Given the description of an element on the screen output the (x, y) to click on. 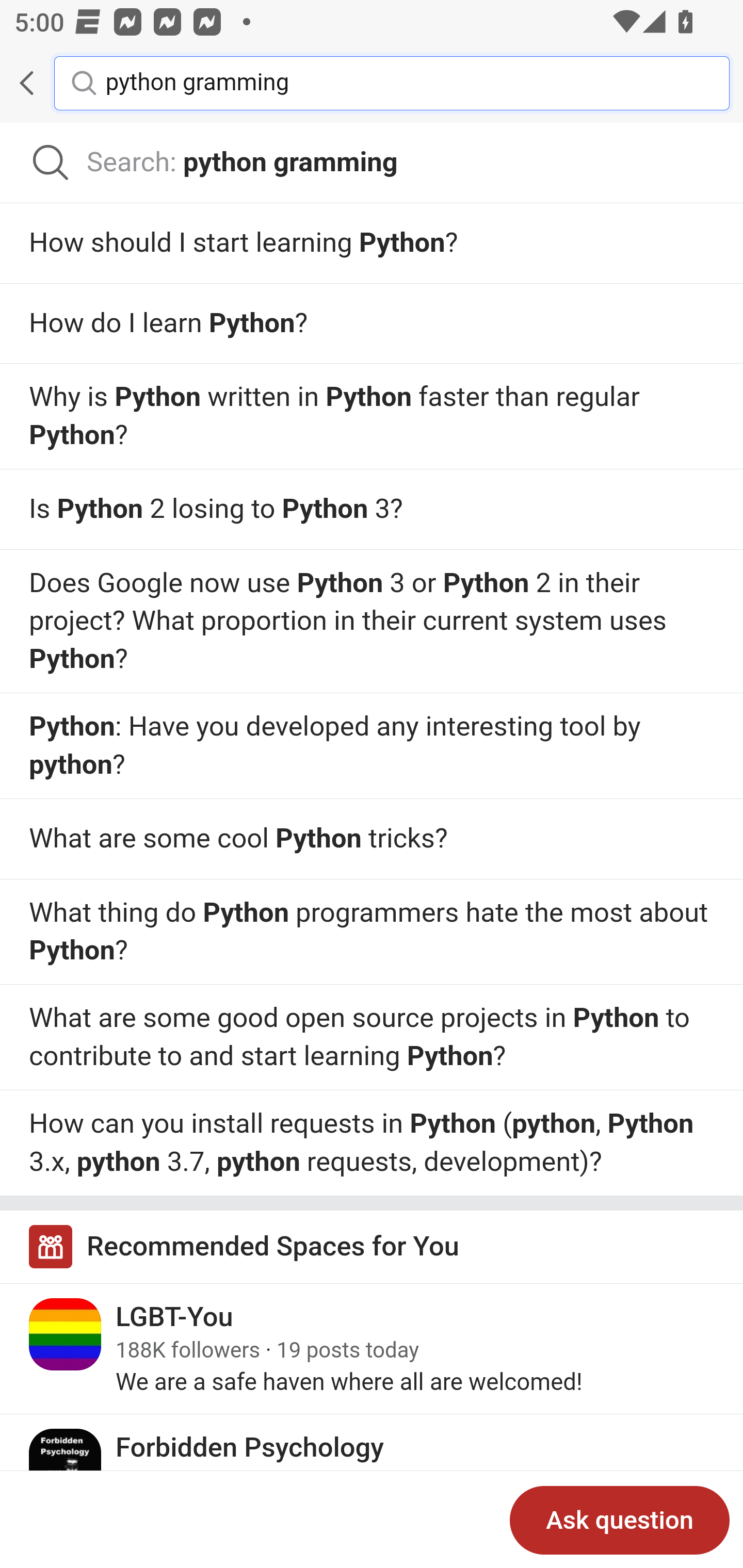
Me (64, 83)
python gramming (402, 82)
Search: pyt (371, 162)
Is Python 2 losing to Python 3? (371, 509)
Icon for LGBT-You (65, 1334)
